Given the description of an element on the screen output the (x, y) to click on. 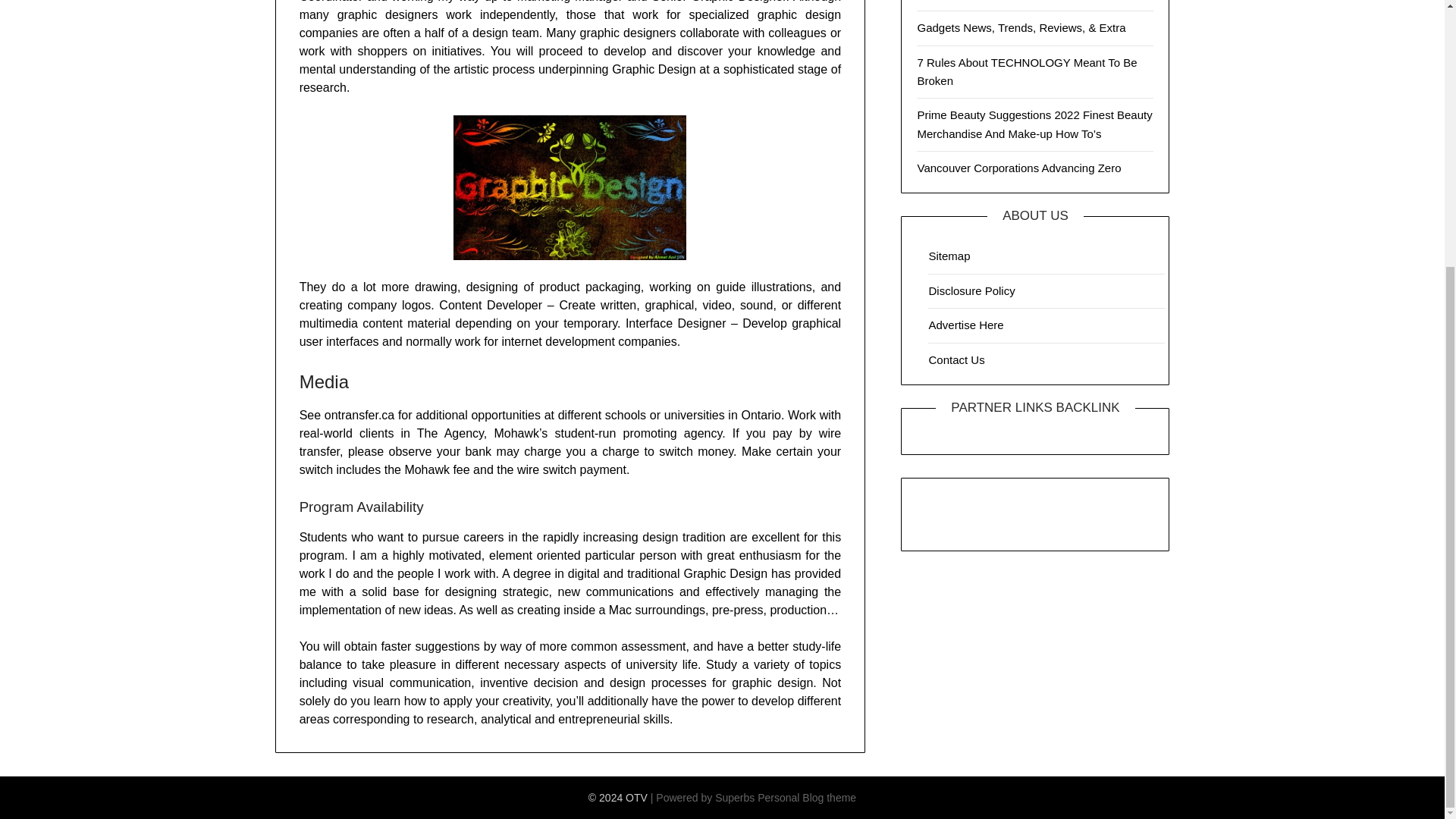
Contact Us (956, 359)
7 Rules About TECHNOLOGY Meant To Be Broken (1027, 71)
Sitemap (948, 255)
Personal Blog theme (806, 797)
Advertise Here (965, 324)
Vancouver Corporations Advancing Zero (1019, 167)
Disclosure Policy (971, 290)
